Given the description of an element on the screen output the (x, y) to click on. 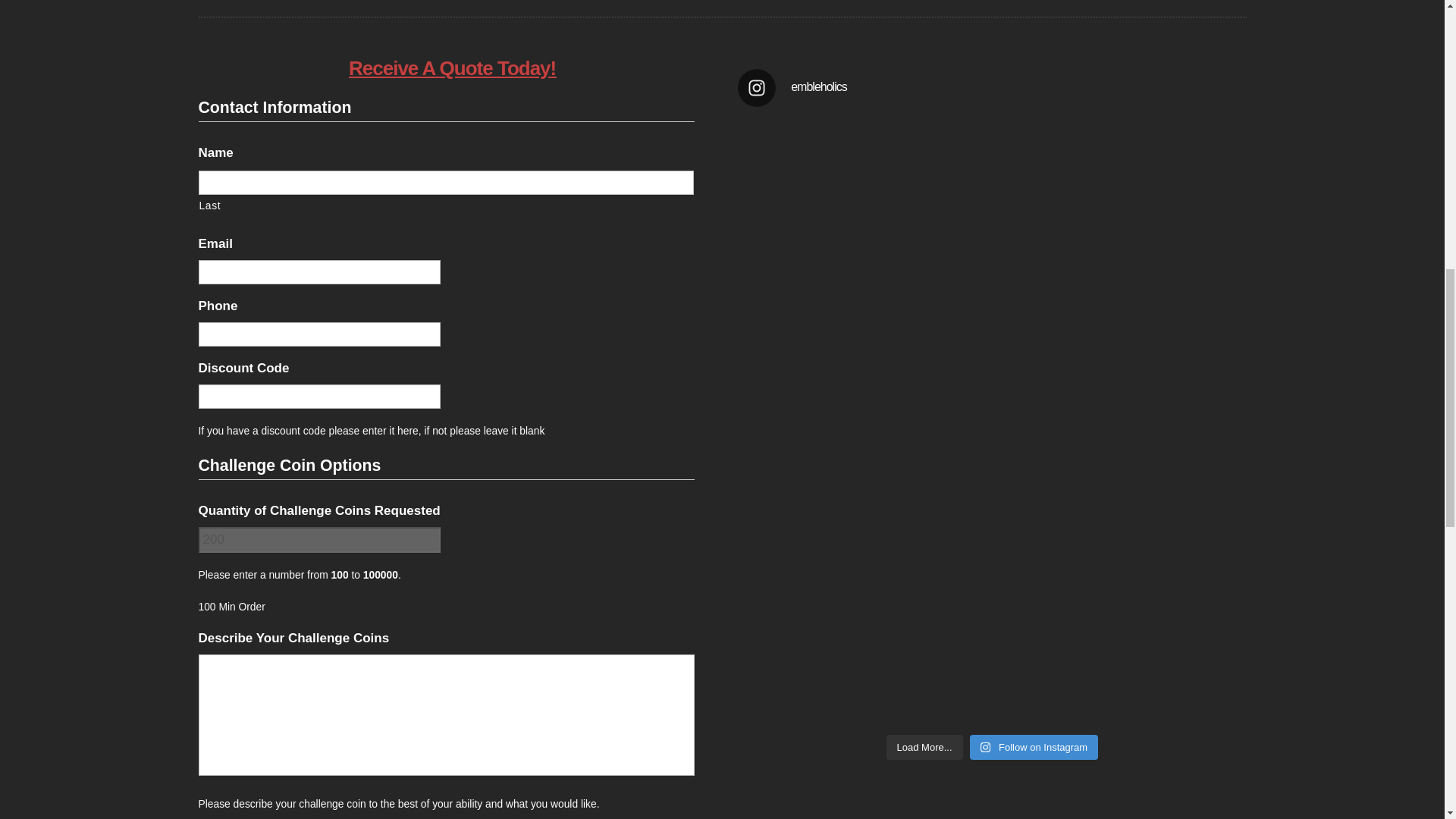
200 (319, 539)
